Given the description of an element on the screen output the (x, y) to click on. 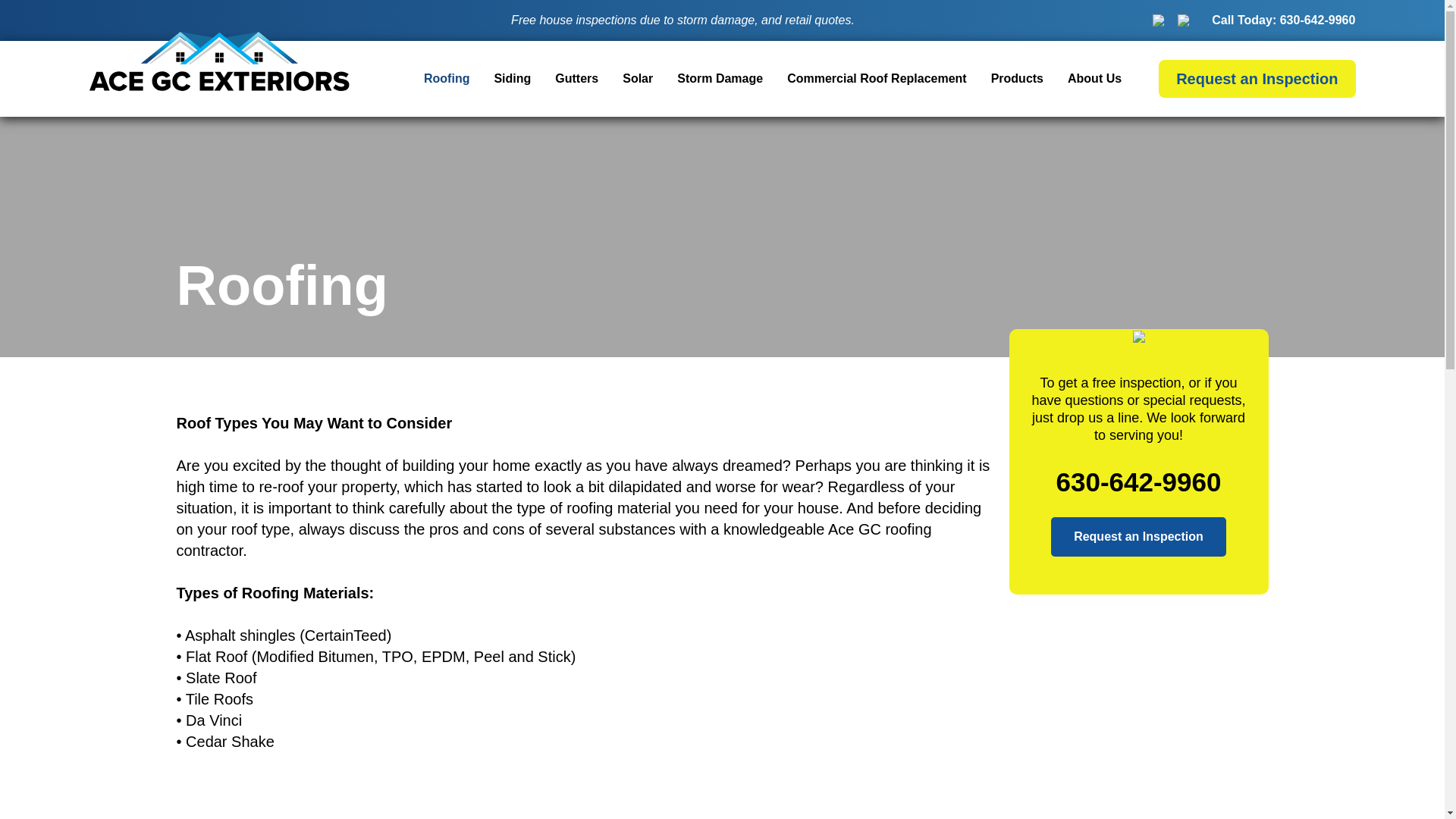
Gutters (576, 78)
630-642-9960 (1138, 500)
Products (1017, 78)
About Us (1094, 78)
Commercial Roof Replacement (876, 78)
Storm Damage (719, 78)
Call Today: 630-642-9960 (1283, 19)
630-642-9960 (1283, 19)
Gutters (576, 78)
Roofing (445, 78)
